Given the description of an element on the screen output the (x, y) to click on. 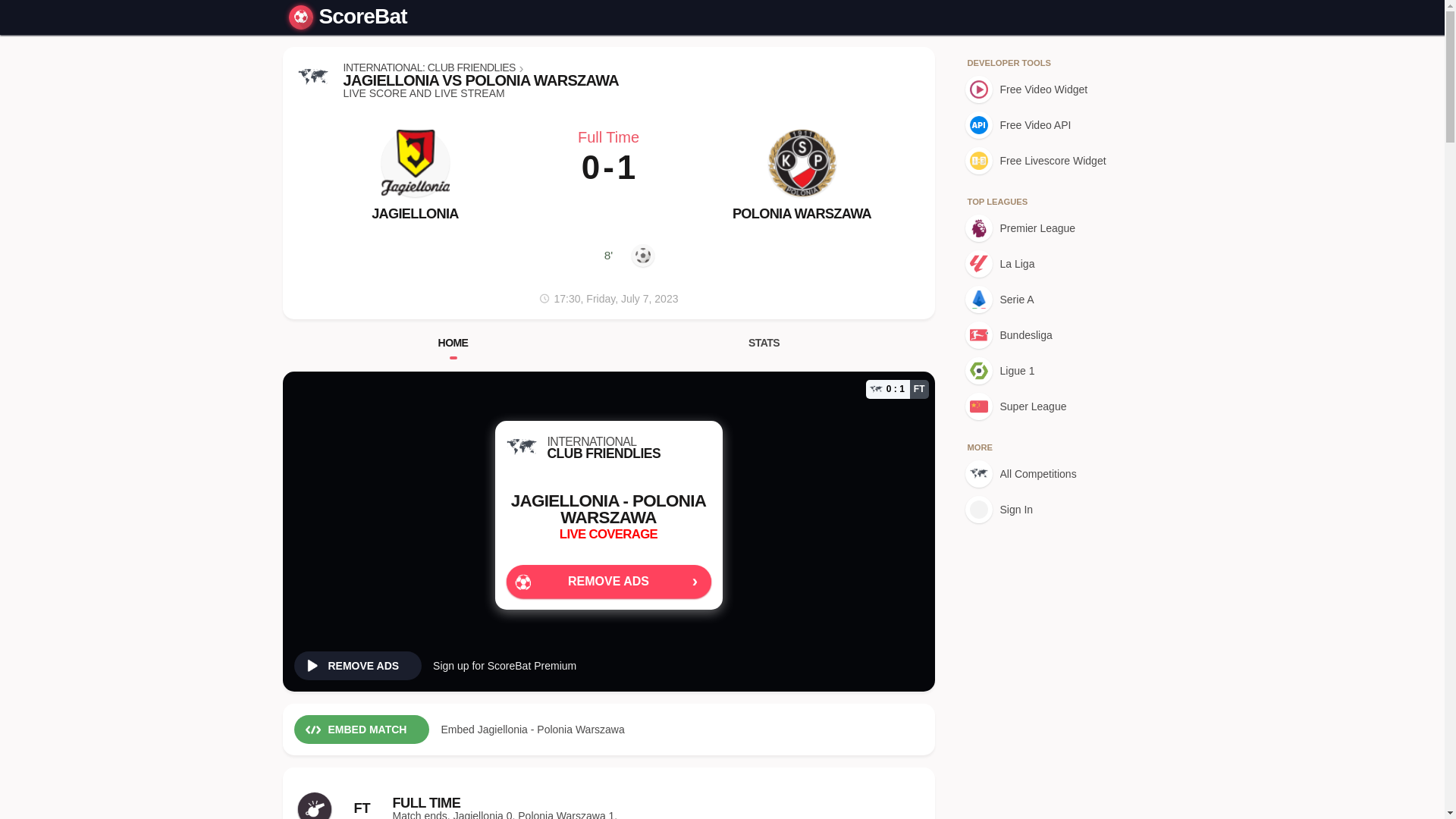
Free Livescore Widget (1047, 160)
INTERNATIONAL: CLUB FRIENDLIES (428, 67)
POLONIA WARSZAWA (801, 213)
Bundesliga (1047, 335)
JAGIELLONIA (414, 213)
Sign In (1047, 509)
INTERNATIONAL: Club Friendlies (312, 77)
Premier League (1047, 227)
Ligue 1 (1047, 370)
Free Video Widget (1047, 89)
Serie A (1047, 299)
REMOVE ADS (358, 665)
La Liga (1047, 263)
Free Video API (1047, 124)
Super League (1047, 406)
